Given the description of an element on the screen output the (x, y) to click on. 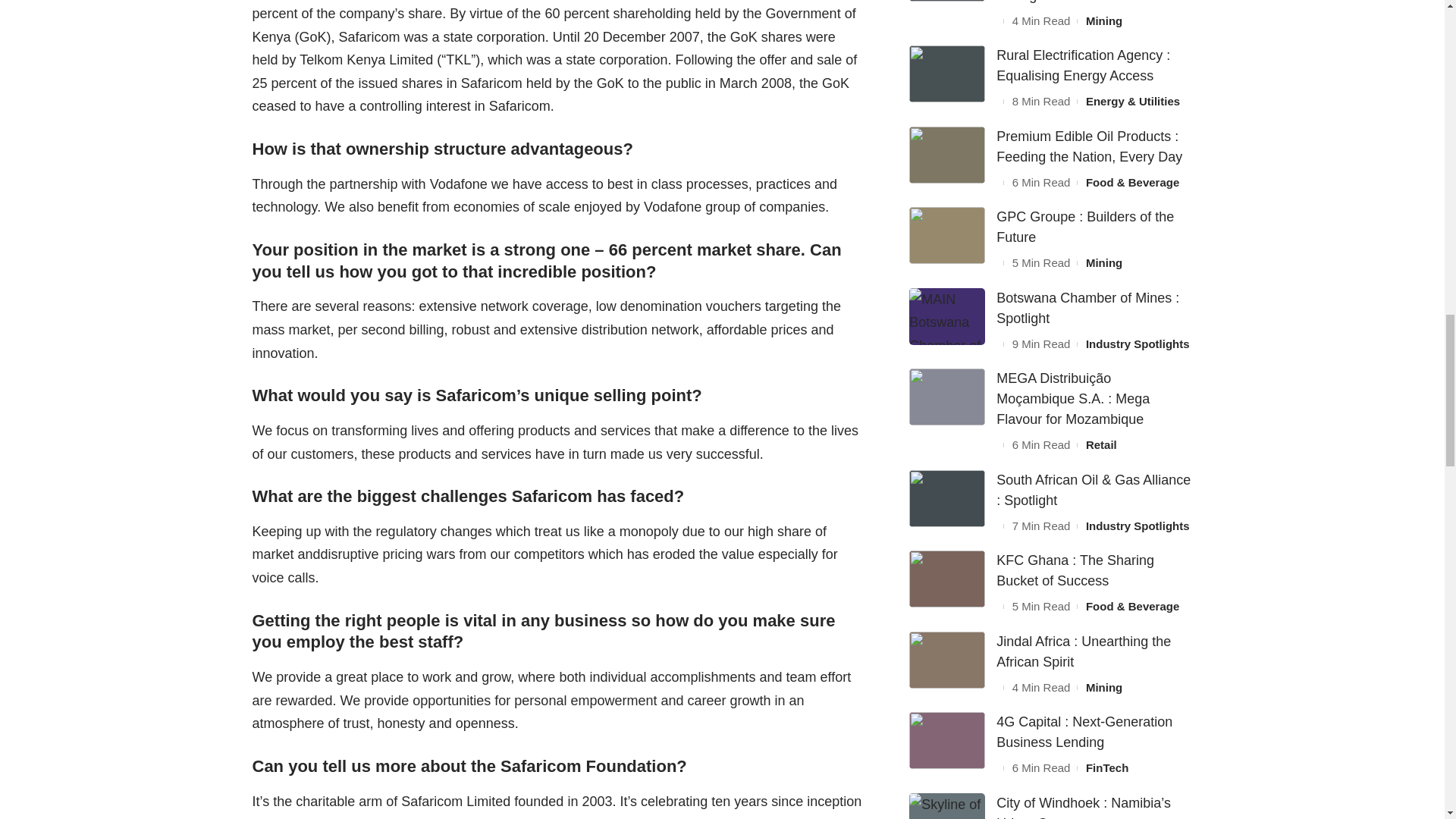
Premium Edible Oil Products : Feeding the Nation, Every Day (946, 154)
Botswana Chamber of Mines : Spotlight (946, 316)
GPC Groupe : Builders of the Future (946, 235)
Rural Electrification Agency : Equalising Energy Access (946, 73)
